Given the description of an element on the screen output the (x, y) to click on. 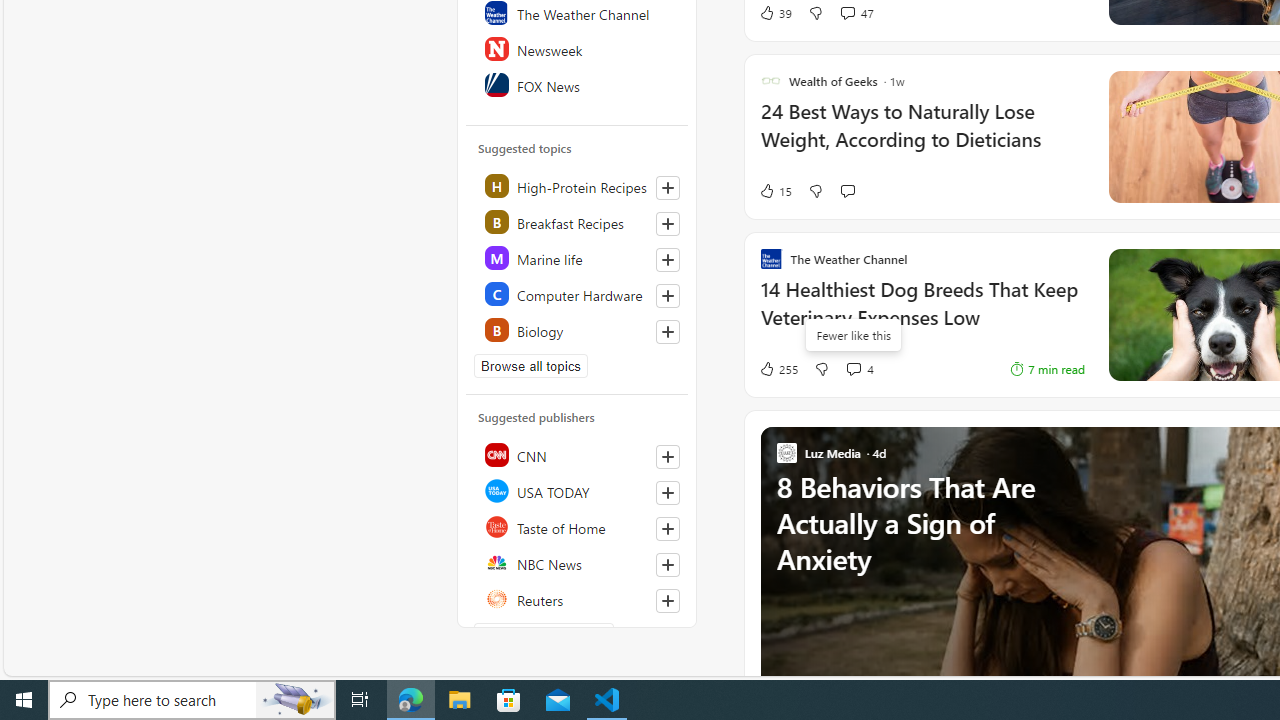
USA TODAY (578, 490)
Newsweek (578, 48)
Reuters (578, 598)
15 Like (775, 191)
255 Like (778, 368)
View comments 4 Comment (852, 368)
View comments 47 Comment (855, 12)
Start the conversation (847, 190)
Dislike (821, 368)
View comments 47 Comment (847, 12)
Follow this source (667, 600)
